Given the description of an element on the screen output the (x, y) to click on. 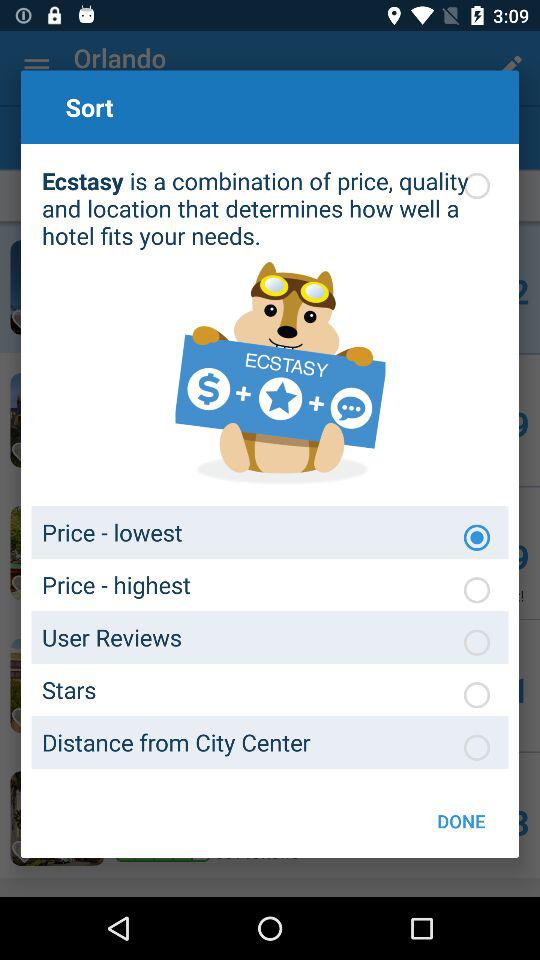
go to price lowest (477, 537)
